Given the description of an element on the screen output the (x, y) to click on. 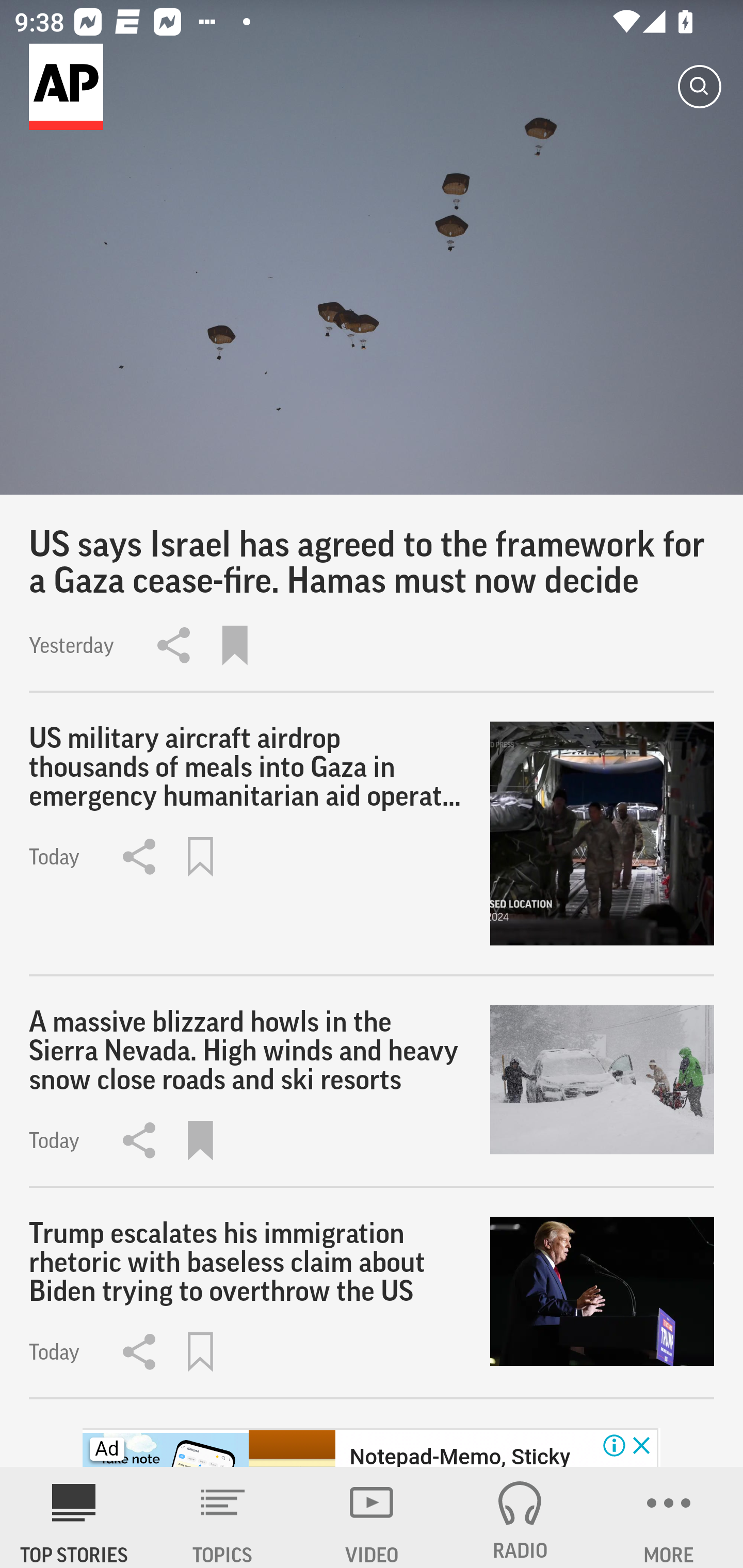
Notepad-Memo, Sticky Notebooks (459, 1454)
AP News TOP STORIES (74, 1517)
TOPICS (222, 1517)
VIDEO (371, 1517)
RADIO (519, 1517)
MORE (668, 1517)
